Given the description of an element on the screen output the (x, y) to click on. 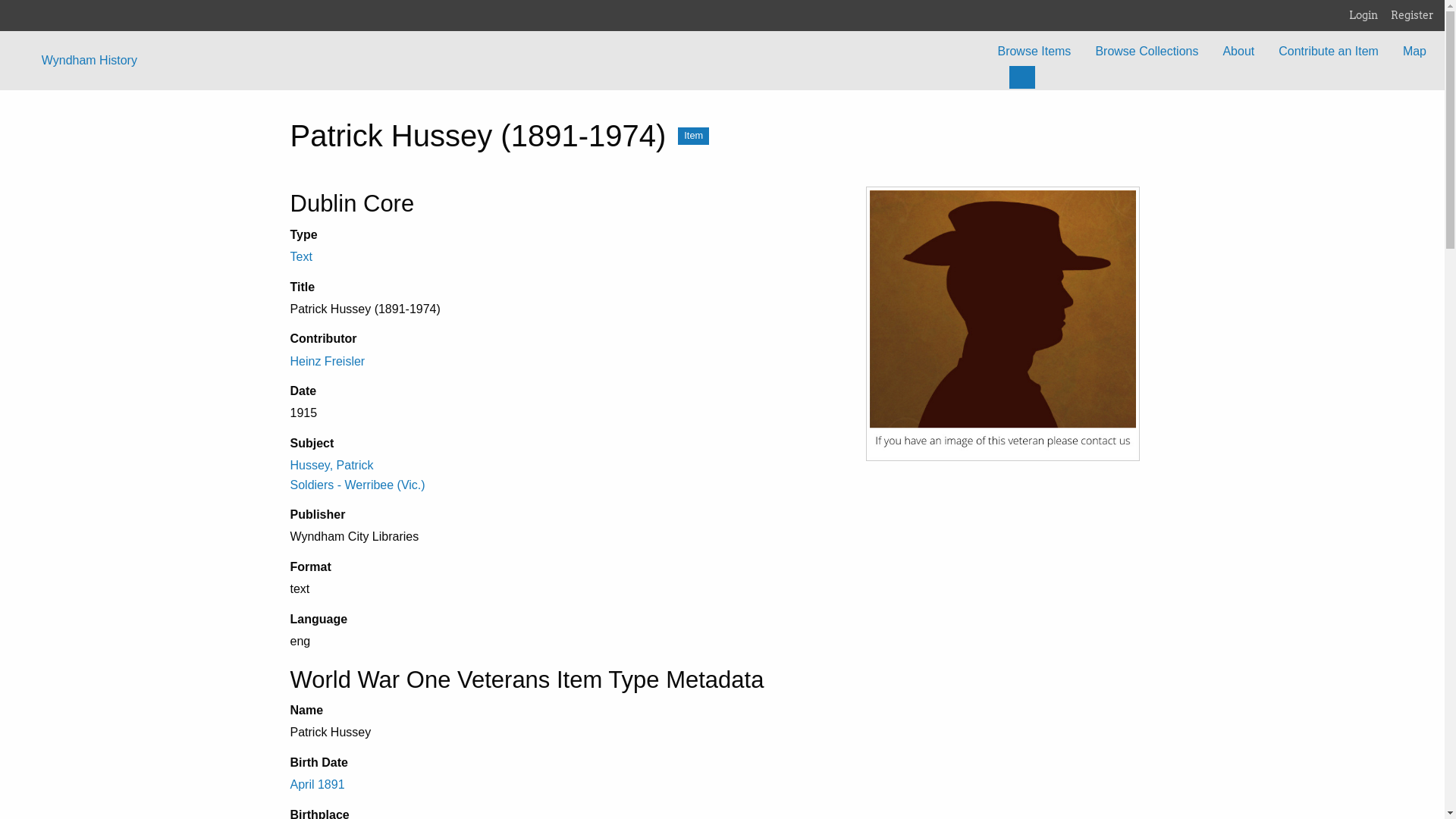
Soldiers - Werribee (Vic.) Element type: text (356, 484)
Skip to main content Element type: text (0, 0)
Browse Collections Element type: text (1146, 51)
Map Element type: text (1414, 51)
Hussey, Patrick Element type: text (331, 464)
Placeholder image - Veteran.png Element type: hover (1002, 323)
About Element type: text (1238, 51)
Contribute an Item Element type: text (1328, 51)
Register Element type: text (1417, 15)
Text Element type: text (300, 256)
Browse Items Element type: text (1033, 51)
Login Element type: text (1368, 15)
Wyndham History Element type: text (89, 60)
Heinz Freisler Element type: text (326, 360)
April 1891 Element type: text (316, 784)
